Given the description of an element on the screen output the (x, y) to click on. 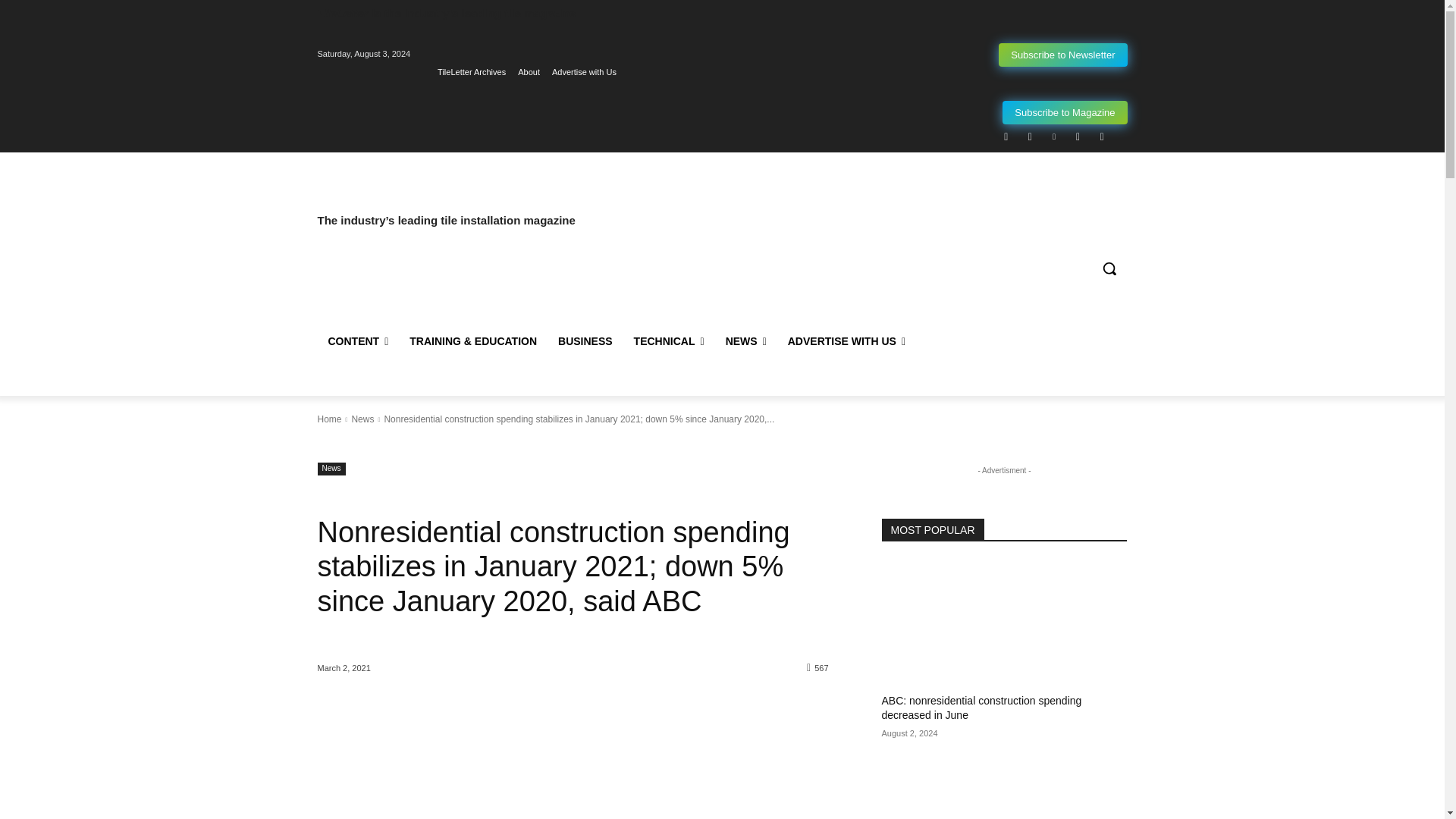
Subscribe to Newsletter (1062, 54)
Subscribe to Magazine (1064, 112)
TileLetter Archives (471, 71)
Instagram (1030, 136)
CONTENT (357, 340)
Subscribe to Newsletter (1062, 54)
Facebook (1005, 136)
Subscribe to Magazine (1064, 112)
BUSINESS (585, 340)
TECHNICAL (668, 340)
Advertise with Us (583, 71)
Youtube (1102, 136)
About (529, 71)
Linkedin (1053, 136)
Twitter (1077, 136)
